Given the description of an element on the screen output the (x, y) to click on. 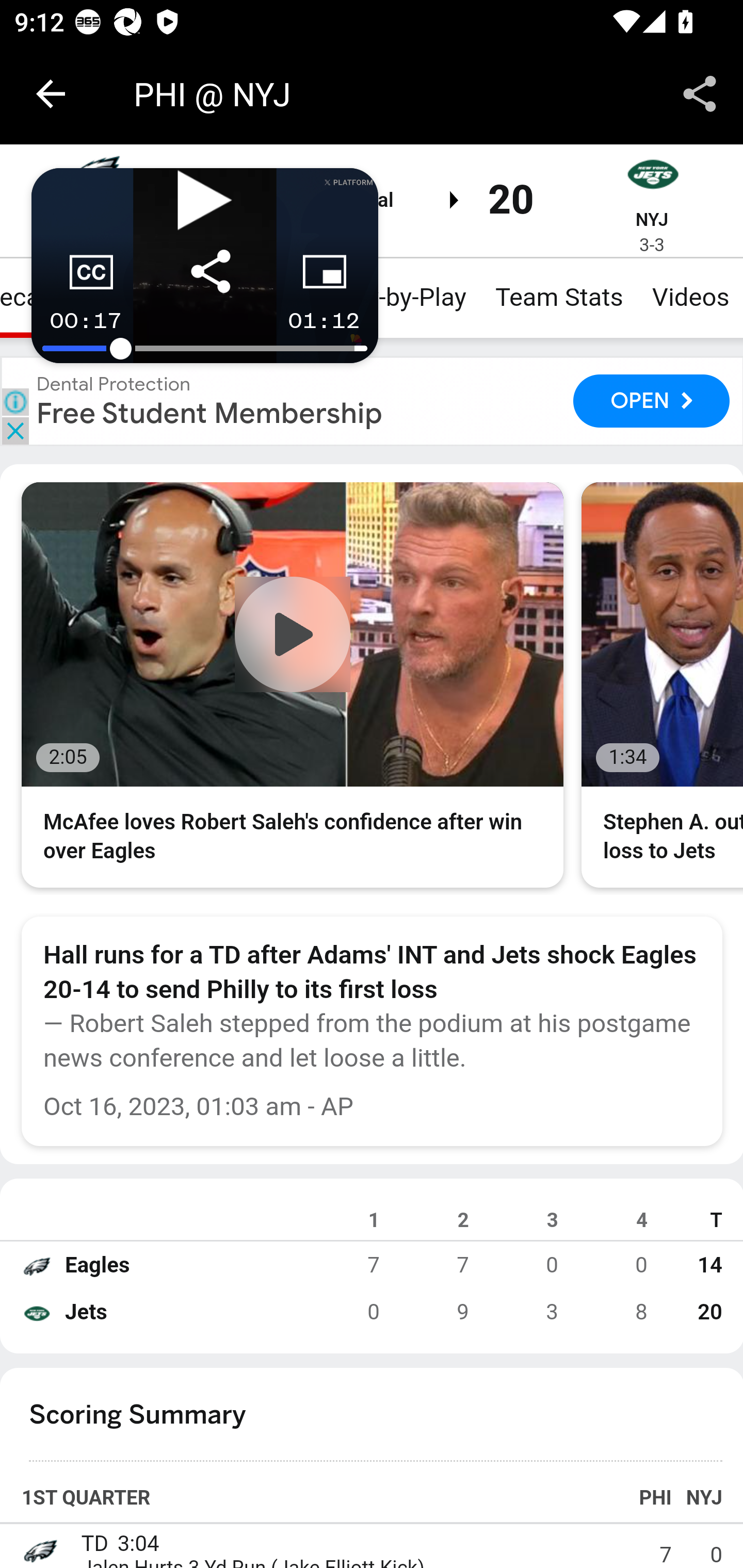
Navigate up (50, 93)
Share (699, 93)
New York Jets (651, 173)
NYJ (651, 219)
Team Stats (559, 296)
Videos (689, 296)
Dental Protection (113, 383)
OPEN (651, 400)
Free Student Membership (210, 412)
Philadelphia Eagles (36, 1266)
New York Jets (36, 1313)
Philadelphia Eagles (39, 1549)
